Given the description of an element on the screen output the (x, y) to click on. 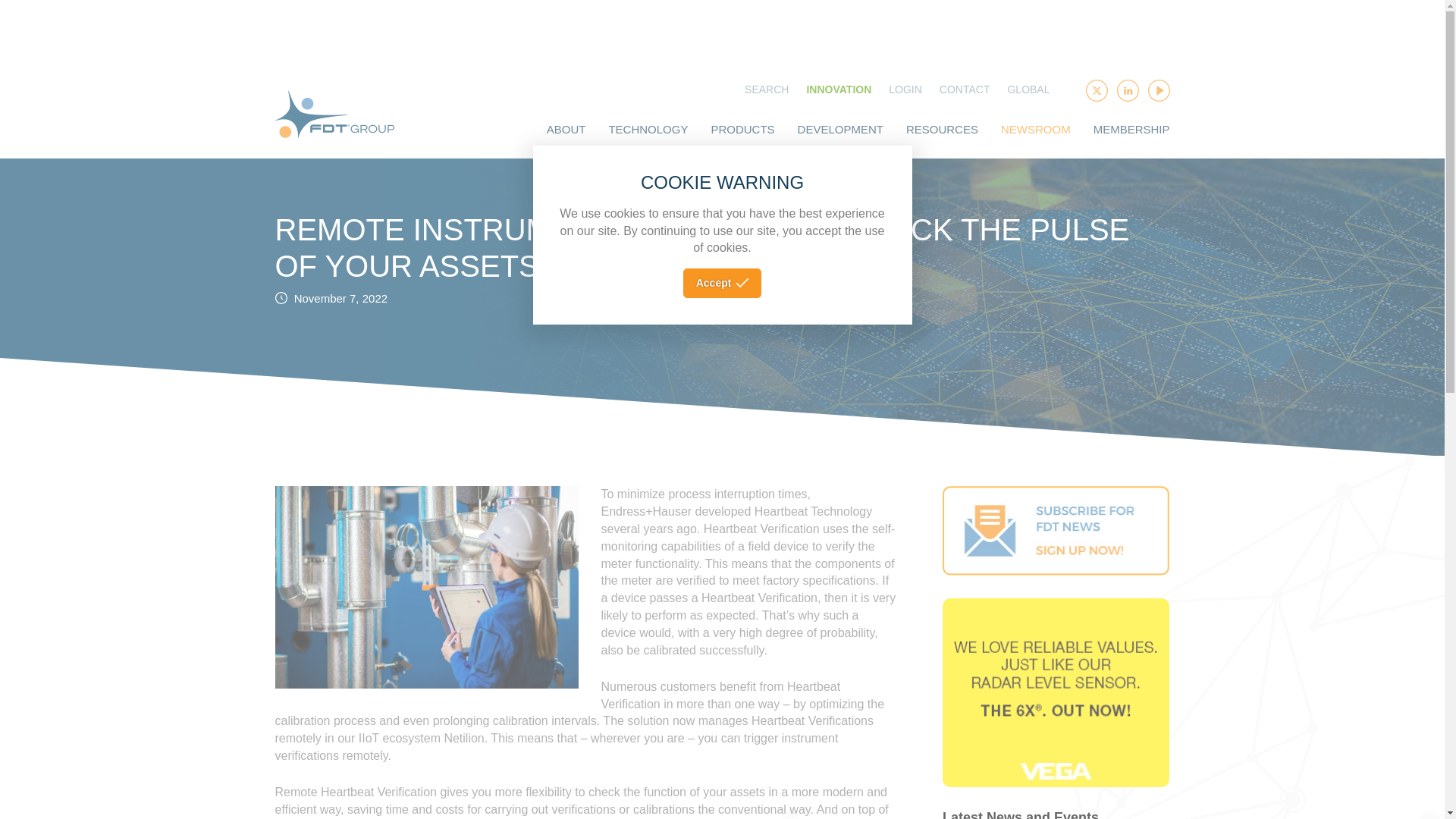
SEARCH (766, 93)
INNOVATION (838, 93)
TECHNOLOGY (647, 137)
PRODUCTS (742, 137)
ABOUT (566, 137)
DEVELOPMENT (840, 137)
LOGIN (904, 93)
GLOBAL (1028, 93)
CONTACT (964, 93)
